Given the description of an element on the screen output the (x, y) to click on. 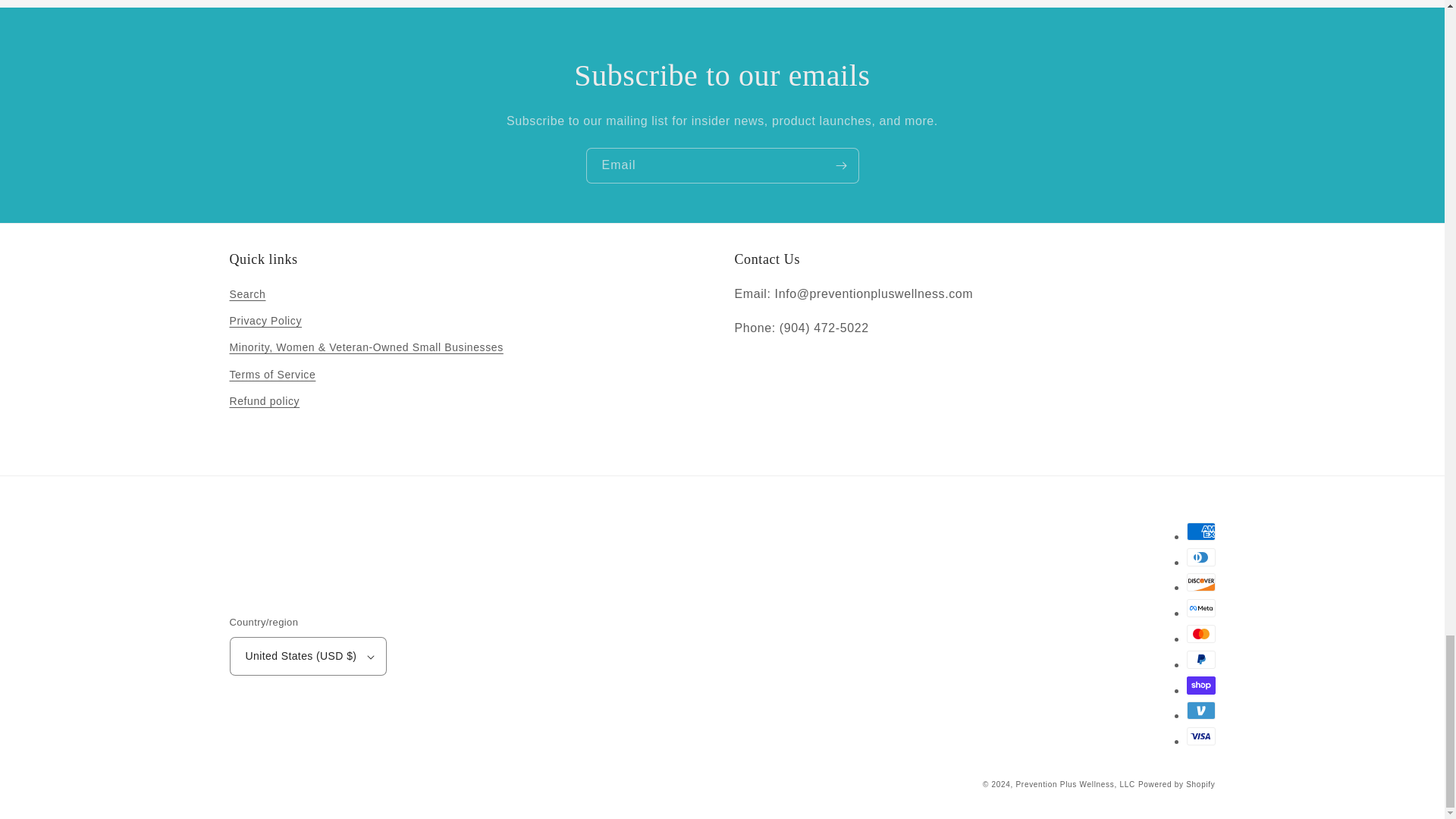
American Express (1200, 531)
Discover (1200, 582)
Mastercard (1200, 633)
Diners Club (1200, 556)
Meta Pay (1200, 607)
PayPal (1200, 659)
